Given the description of an element on the screen output the (x, y) to click on. 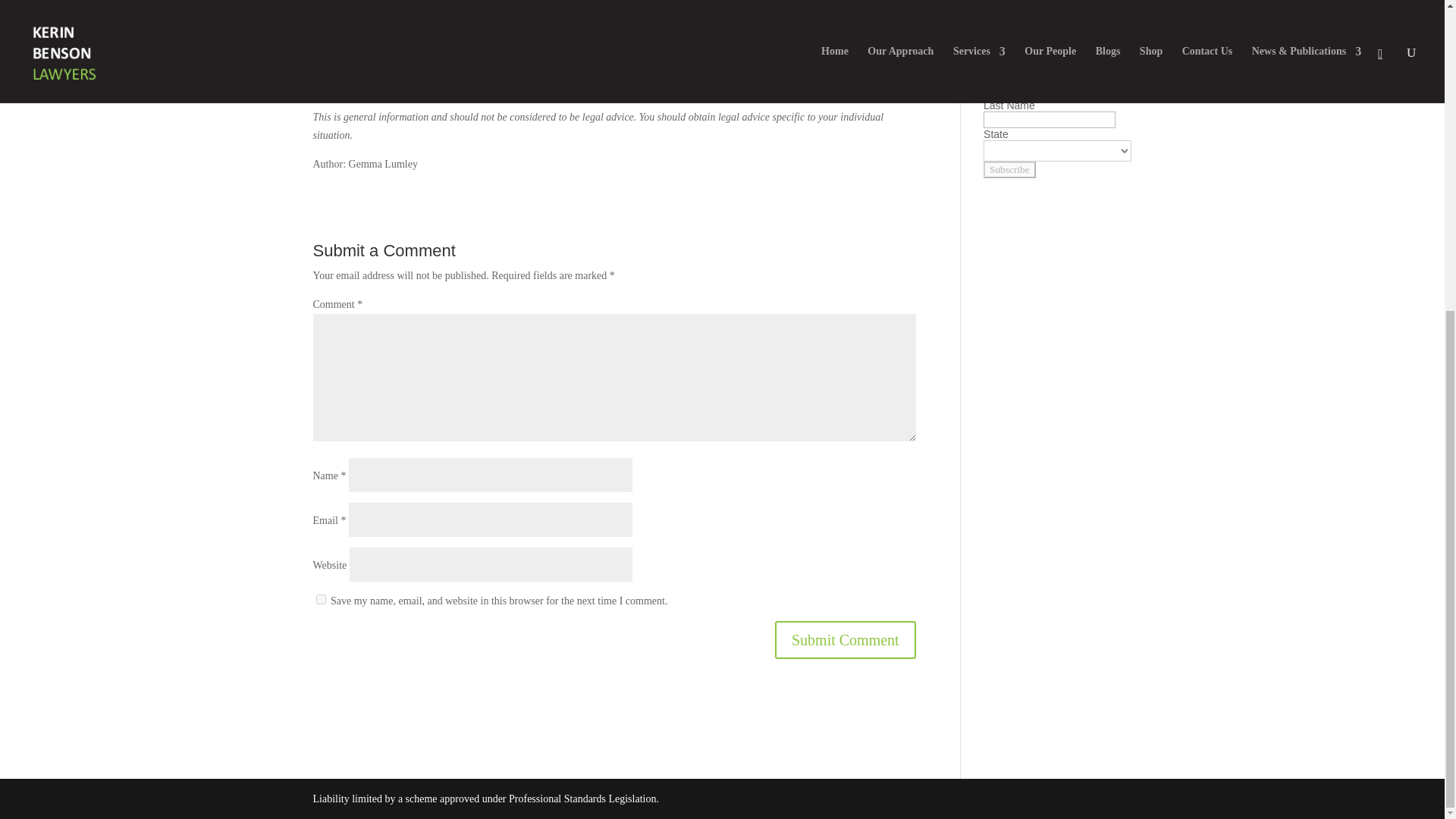
yes (319, 599)
Subscribe (1009, 169)
Submit Comment (844, 639)
